Given the description of an element on the screen output the (x, y) to click on. 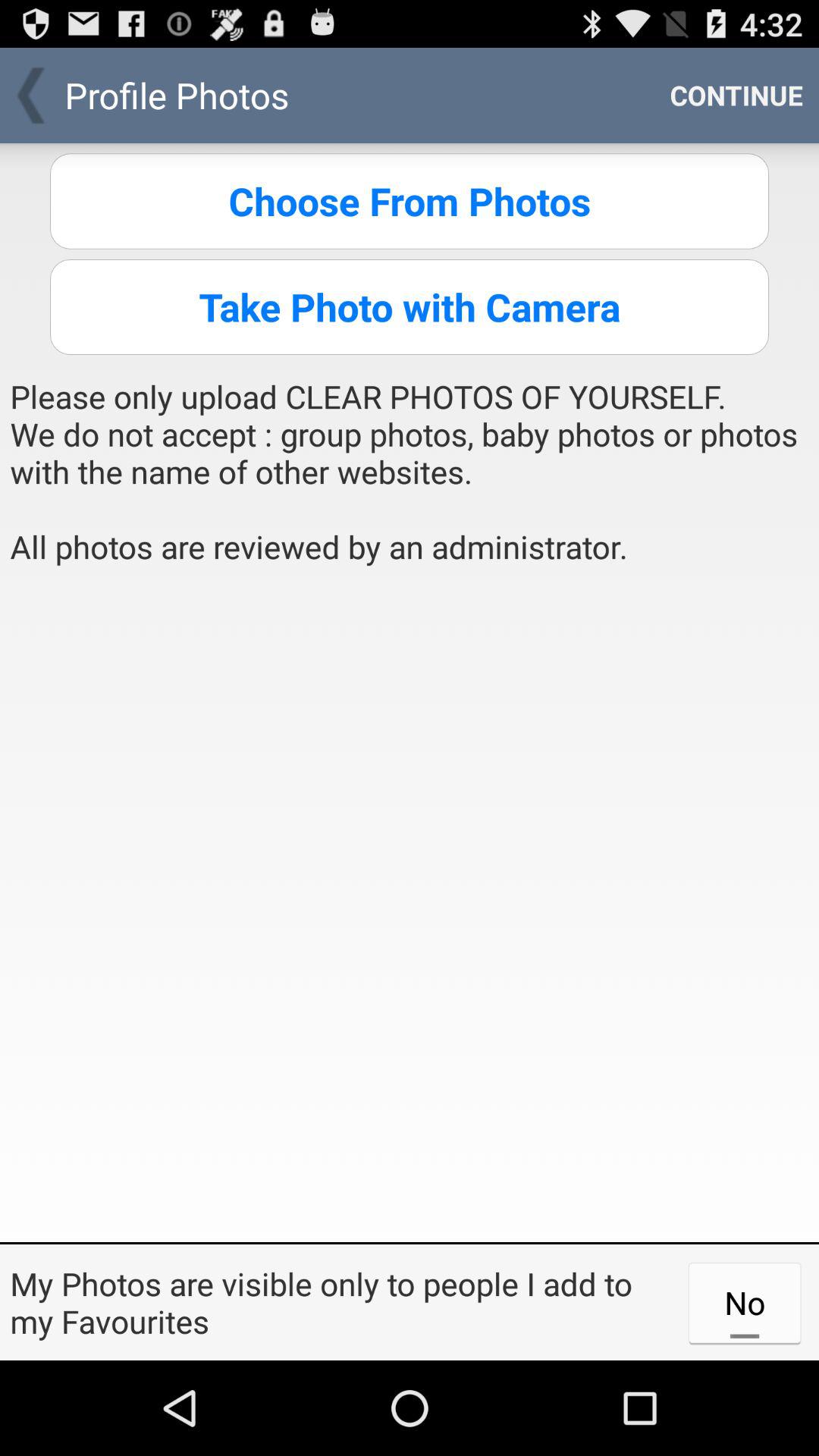
launch the app next to the profile photos app (736, 95)
